Given the description of an element on the screen output the (x, y) to click on. 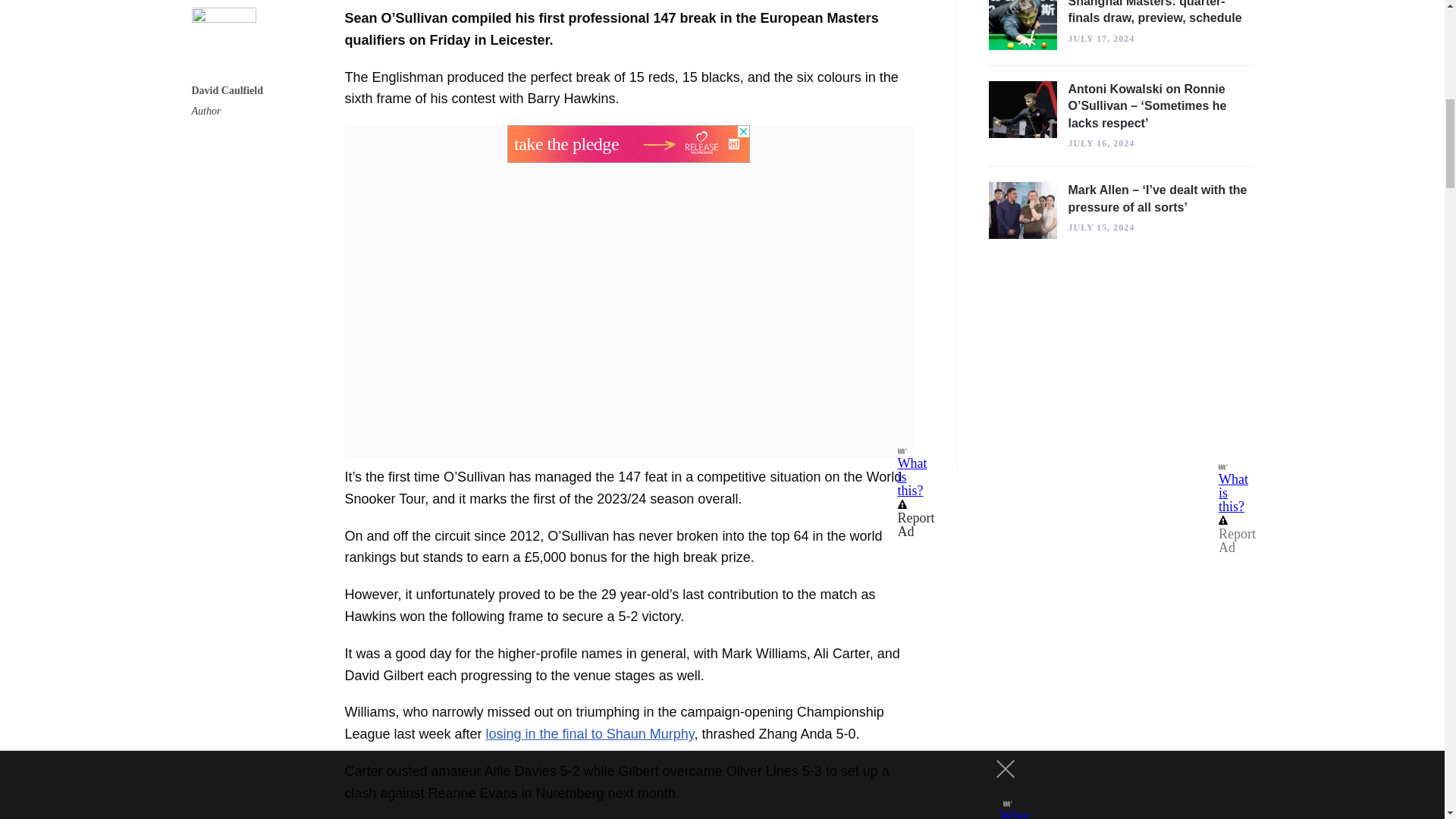
Posts by David Caulfield (226, 91)
3rd party ad content (627, 143)
